Given the description of an element on the screen output the (x, y) to click on. 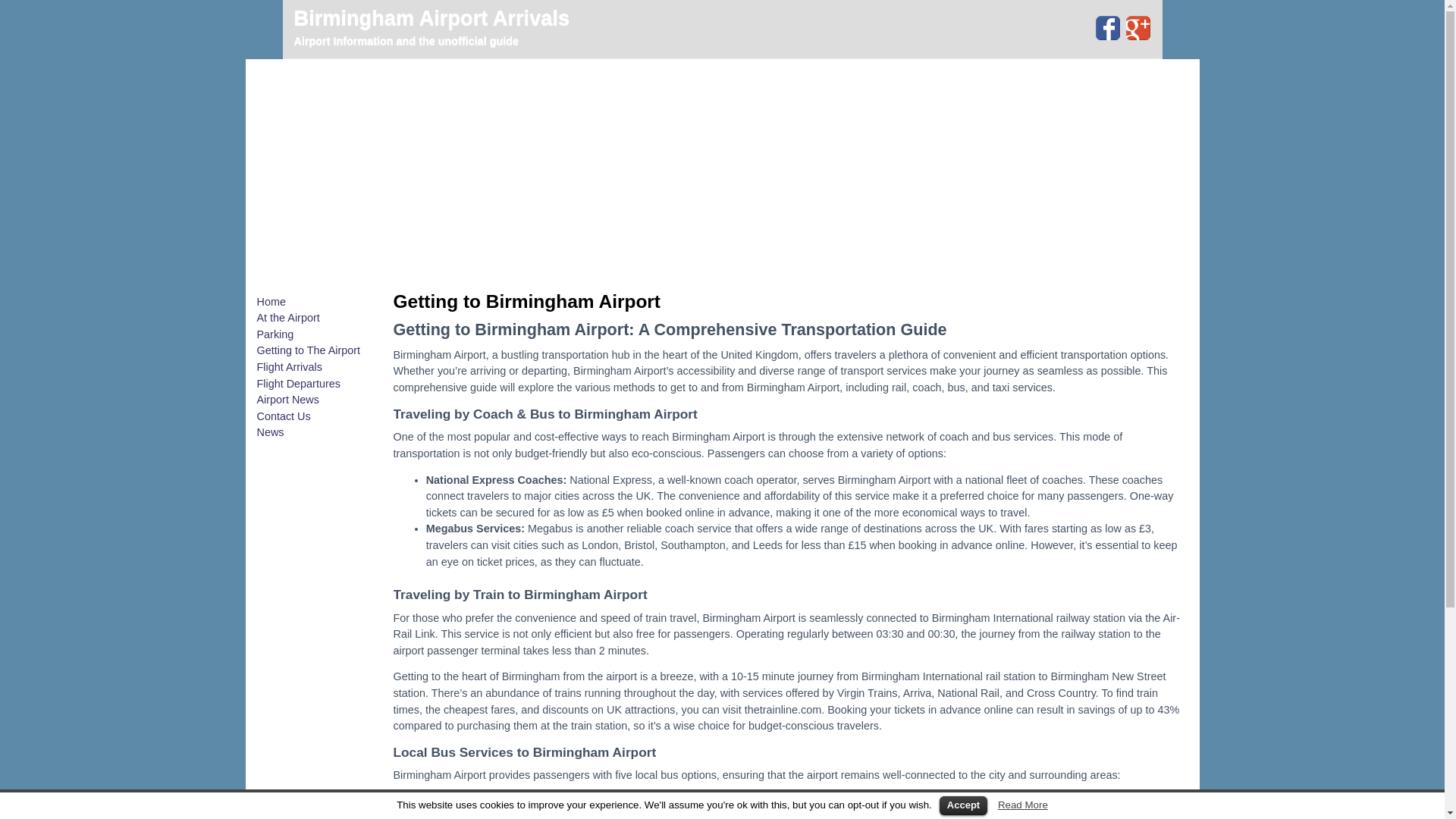
News (269, 431)
Airport News (287, 399)
At the Airport (287, 317)
Birmingham Airport Arrivals (432, 17)
Birmingham Airport Arrivals (432, 17)
Flight Departures (297, 383)
Accept (963, 805)
Contact Us (283, 416)
Home (270, 301)
Flight Arrivals (288, 367)
Parking (275, 334)
Getting to The Airport (307, 349)
Getting to Birmingham Airport (527, 301)
Permalink to Getting to Birmingham Airport (527, 301)
